Given the description of an element on the screen output the (x, y) to click on. 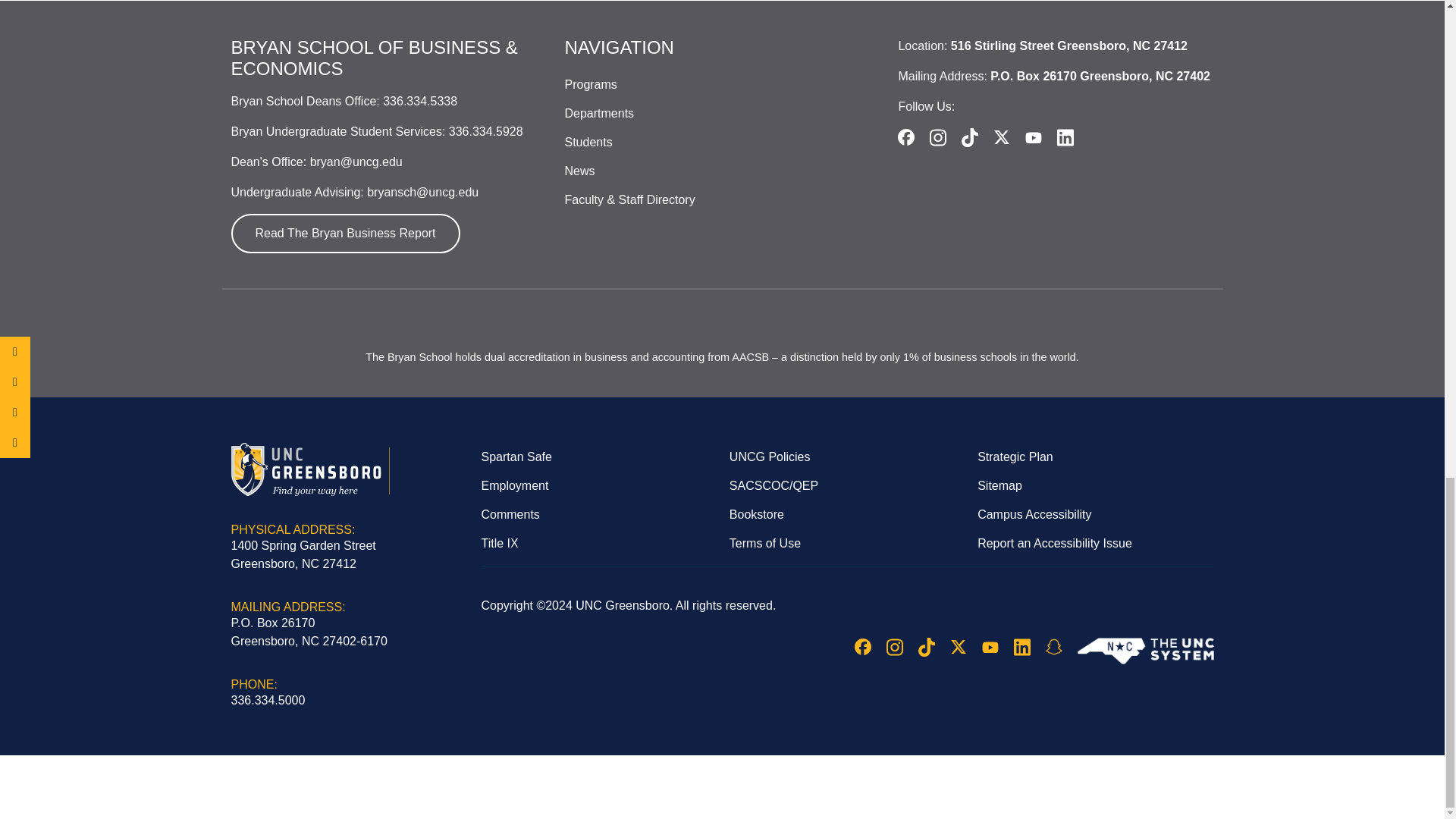
X Twitter icon (957, 646)
YouTube icon (989, 647)
X Twitter icon (1001, 136)
YouTube icon (1033, 137)
Snapchat icon (1053, 646)
Facebook icon (906, 136)
Facebook icon (861, 646)
